Given the description of an element on the screen output the (x, y) to click on. 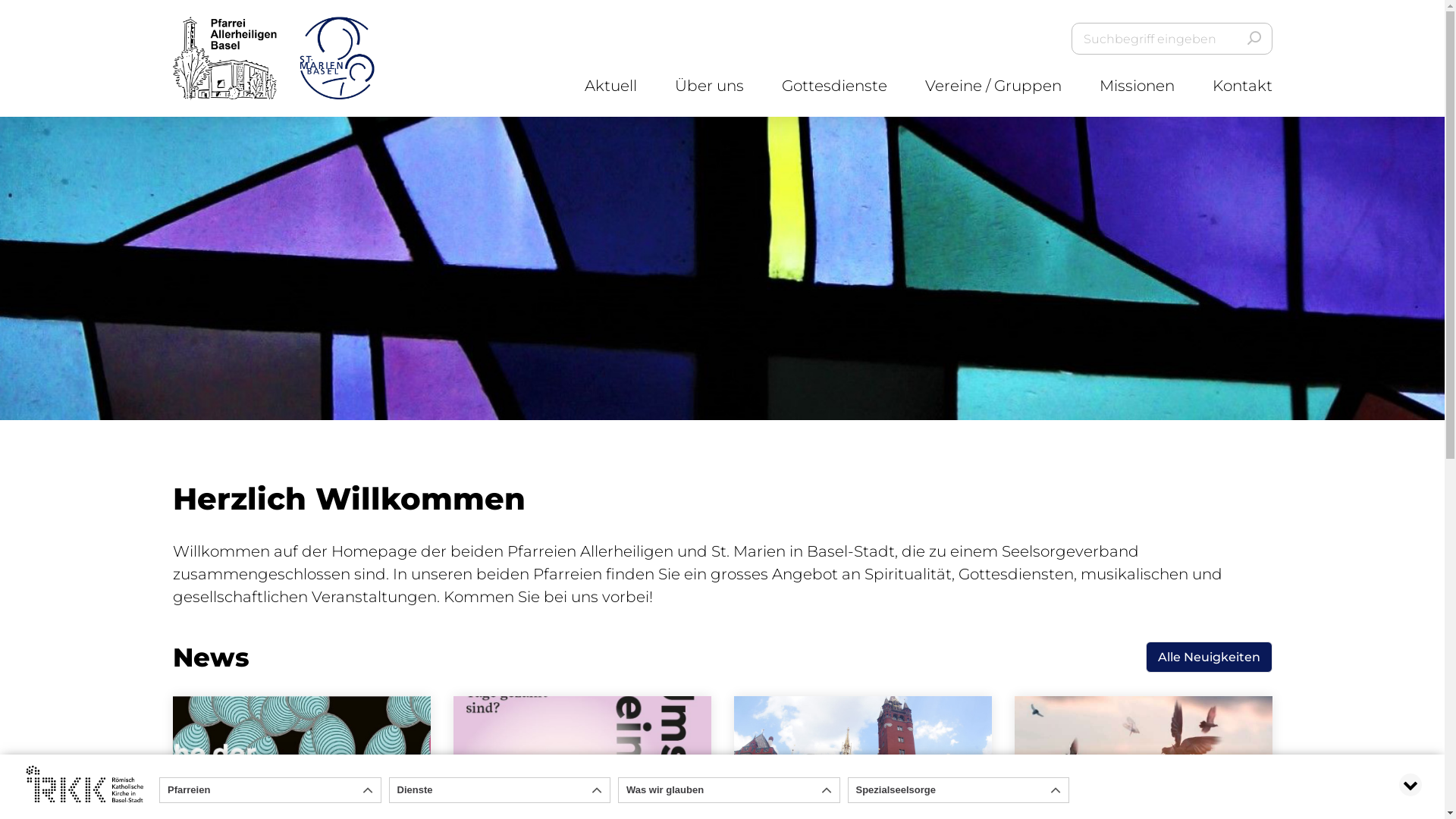
Dienste Element type: text (499, 790)
Vereine / Gruppen Element type: text (993, 85)
Footer ein/ausblenden Element type: hover (1410, 784)
Pfarreien Element type: text (270, 790)
Gottesdienste Element type: text (833, 85)
Spezialseelsorge Element type: text (957, 790)
Missionen Element type: text (1136, 85)
Was wir glauben Element type: text (728, 790)
Aktuell Element type: text (609, 85)
Alle Neuigkeiten Element type: text (1208, 656)
Kontakt Element type: text (1241, 85)
